Given the description of an element on the screen output the (x, y) to click on. 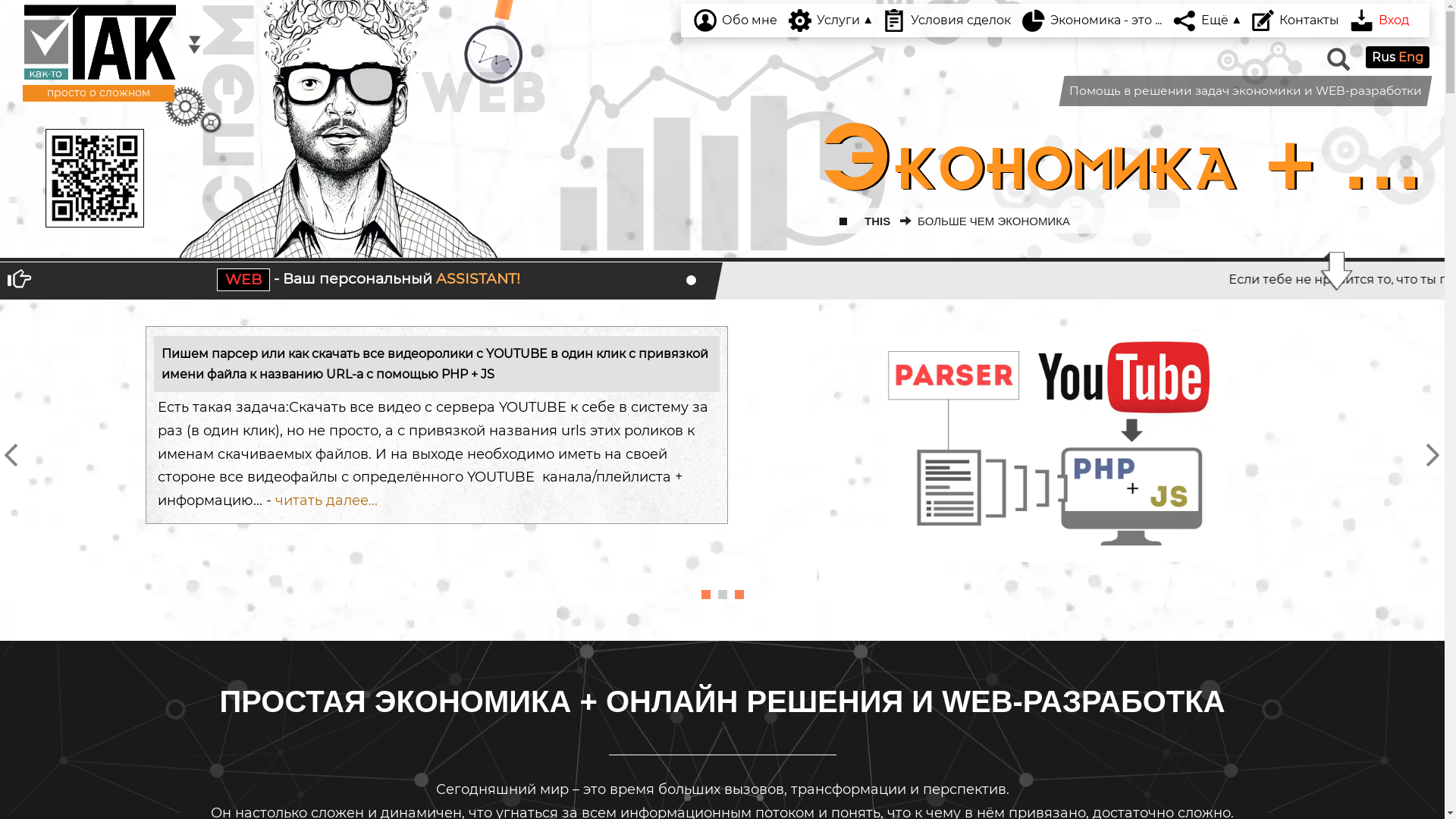
Eng Element type: text (1410, 57)
